Given the description of an element on the screen output the (x, y) to click on. 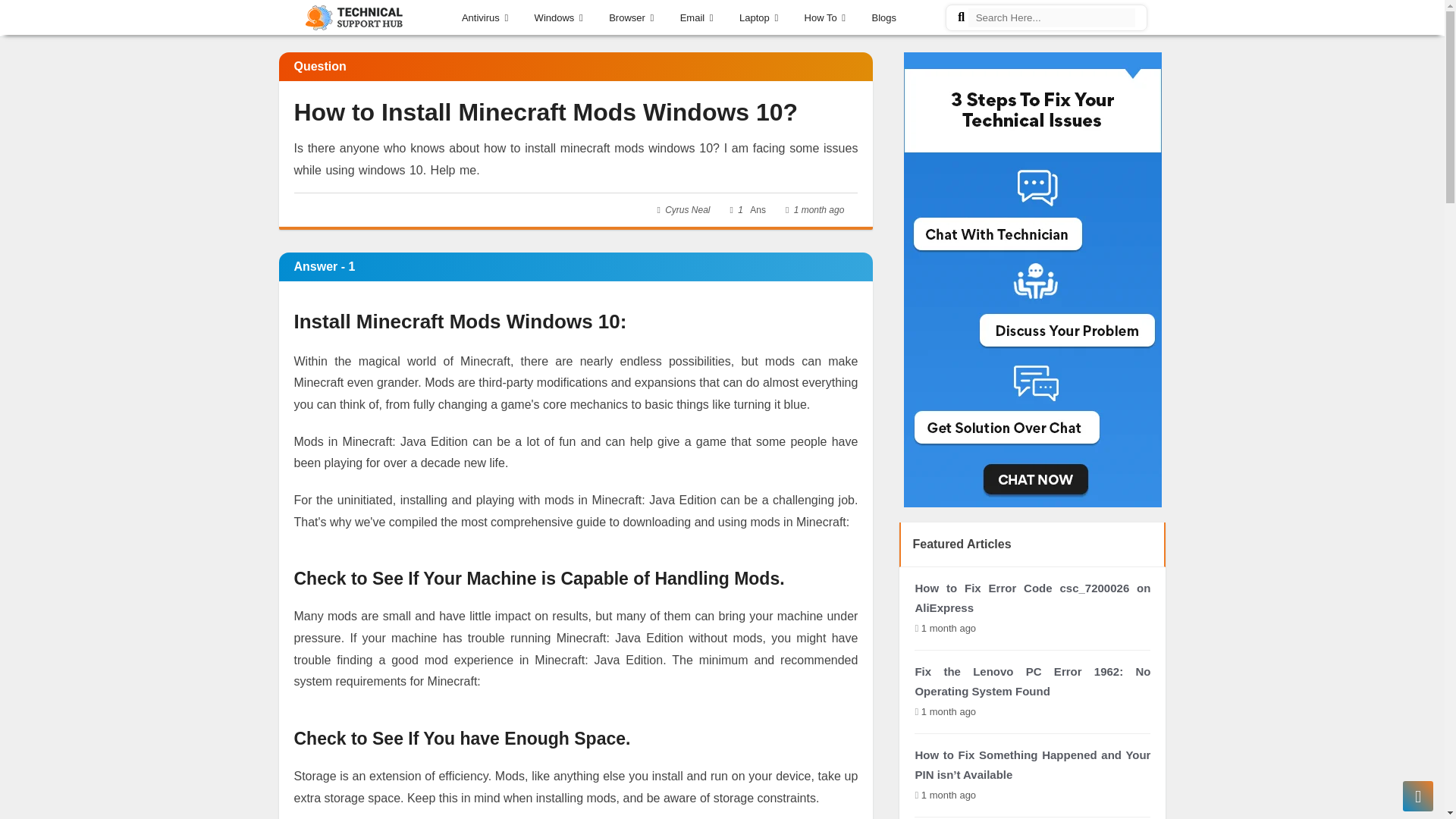
Fix the Lenovo PC Error 1962: No Operating System Found (1032, 681)
Windows (558, 15)
Blogs (884, 15)
Windows (558, 15)
Antivirus (485, 15)
Email (697, 15)
How To (824, 15)
Laptop (758, 15)
Email (697, 15)
Browser (631, 15)
